Given the description of an element on the screen output the (x, y) to click on. 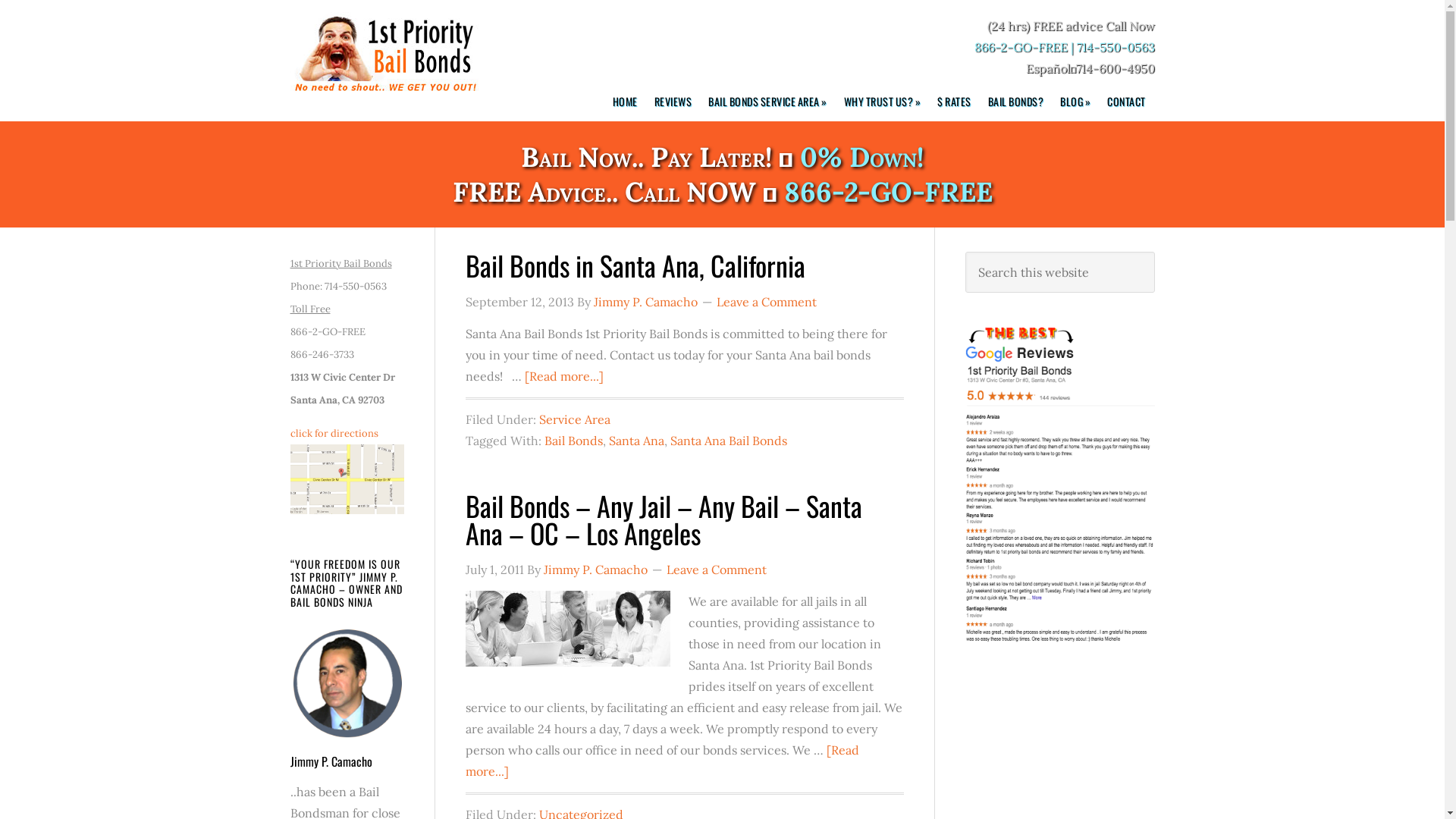
click for directions Element type: text (346, 474)
HOME Element type: text (627, 101)
Service Area Element type: text (573, 418)
Santa Ana Element type: text (635, 440)
[Read more...] Element type: text (563, 375)
REVIEWS Element type: text (674, 101)
Bail Bonds in Santa Ana, California Element type: text (635, 264)
1ST PRIORITY BAIL BONDS Element type: text (383, 54)
Leave a Comment Element type: text (715, 569)
BAIL BONDS? Element type: text (1017, 101)
CONTACT Element type: text (1128, 101)
[Read more...] Element type: text (662, 760)
Bail Bonds Element type: text (573, 440)
$ RATES Element type: text (956, 101)
Search Element type: text (1154, 251)
Jimmy P. Camacho Element type: text (644, 301)
Jimmy P. Camacho Element type: text (594, 569)
Leave a Comment Element type: text (765, 301)
Santa Ana Bail Bonds Element type: text (728, 440)
